Given the description of an element on the screen output the (x, y) to click on. 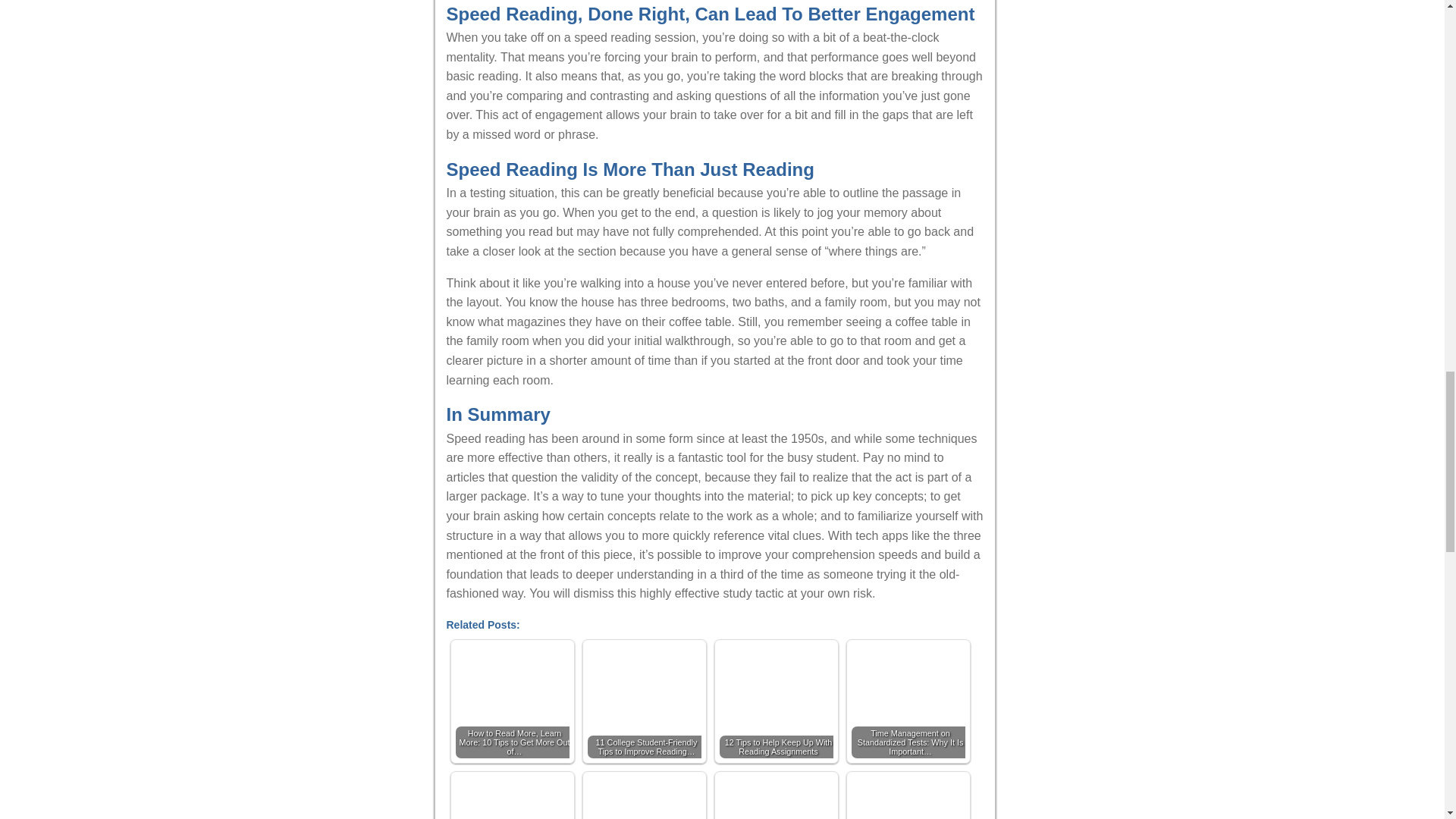
Grow Vocabulary Quickly Using These 10 Foolproof Steps (515, 797)
Study for the ASVAB: Your Journey Begins Here! (779, 797)
12 Reading Strategies to Help With Your Comprehension (646, 797)
12 Tips to Help Keep Up With Reading Assignments (779, 704)
